Given the description of an element on the screen output the (x, y) to click on. 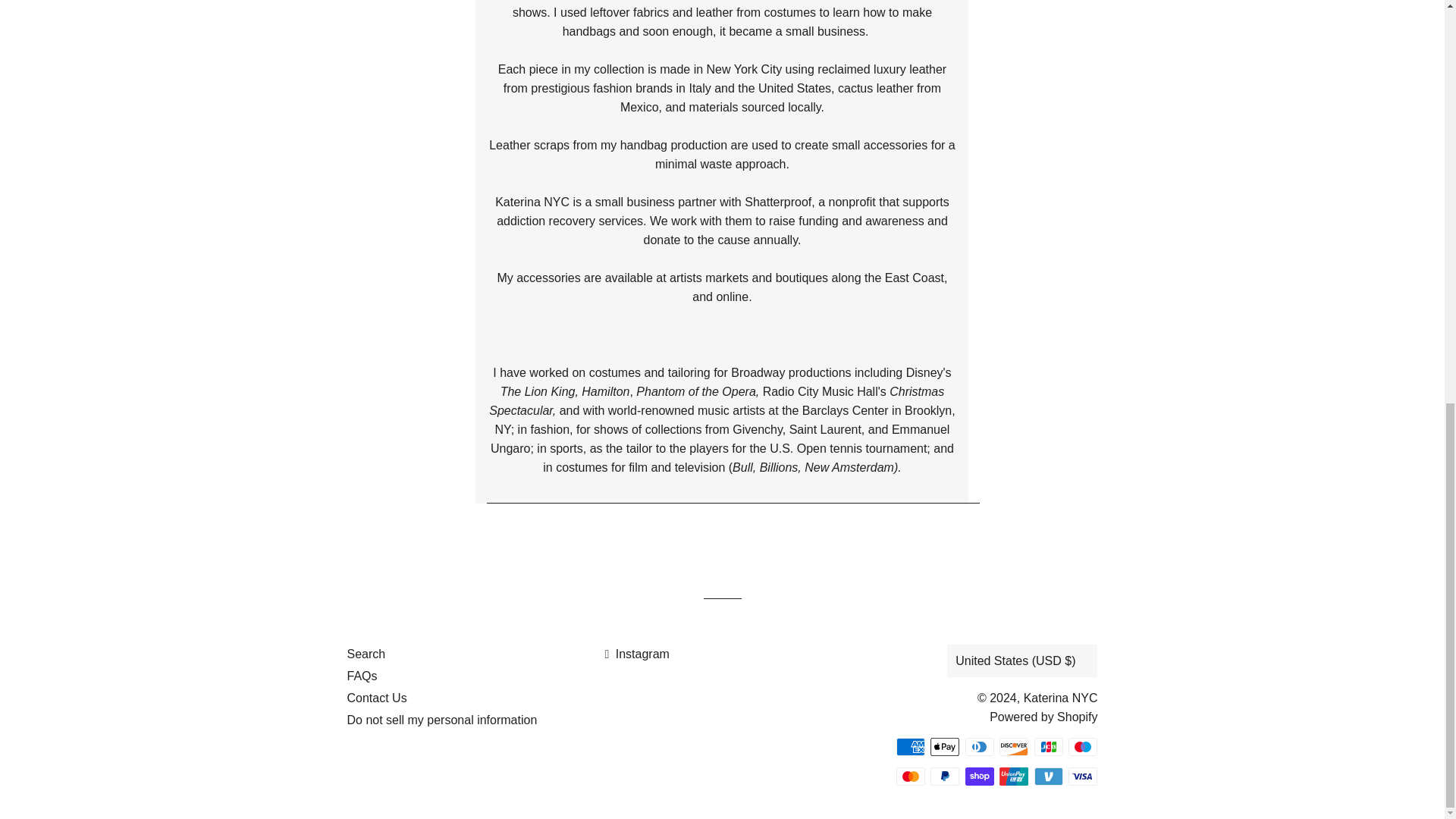
Venmo (1047, 775)
FAQs (362, 675)
Discover (1012, 746)
Diners Club (979, 746)
PayPal (944, 775)
Apple Pay (944, 746)
Shop Pay (979, 775)
Contact Us (377, 697)
Visa (1082, 775)
Mastercard (910, 775)
